Given the description of an element on the screen output the (x, y) to click on. 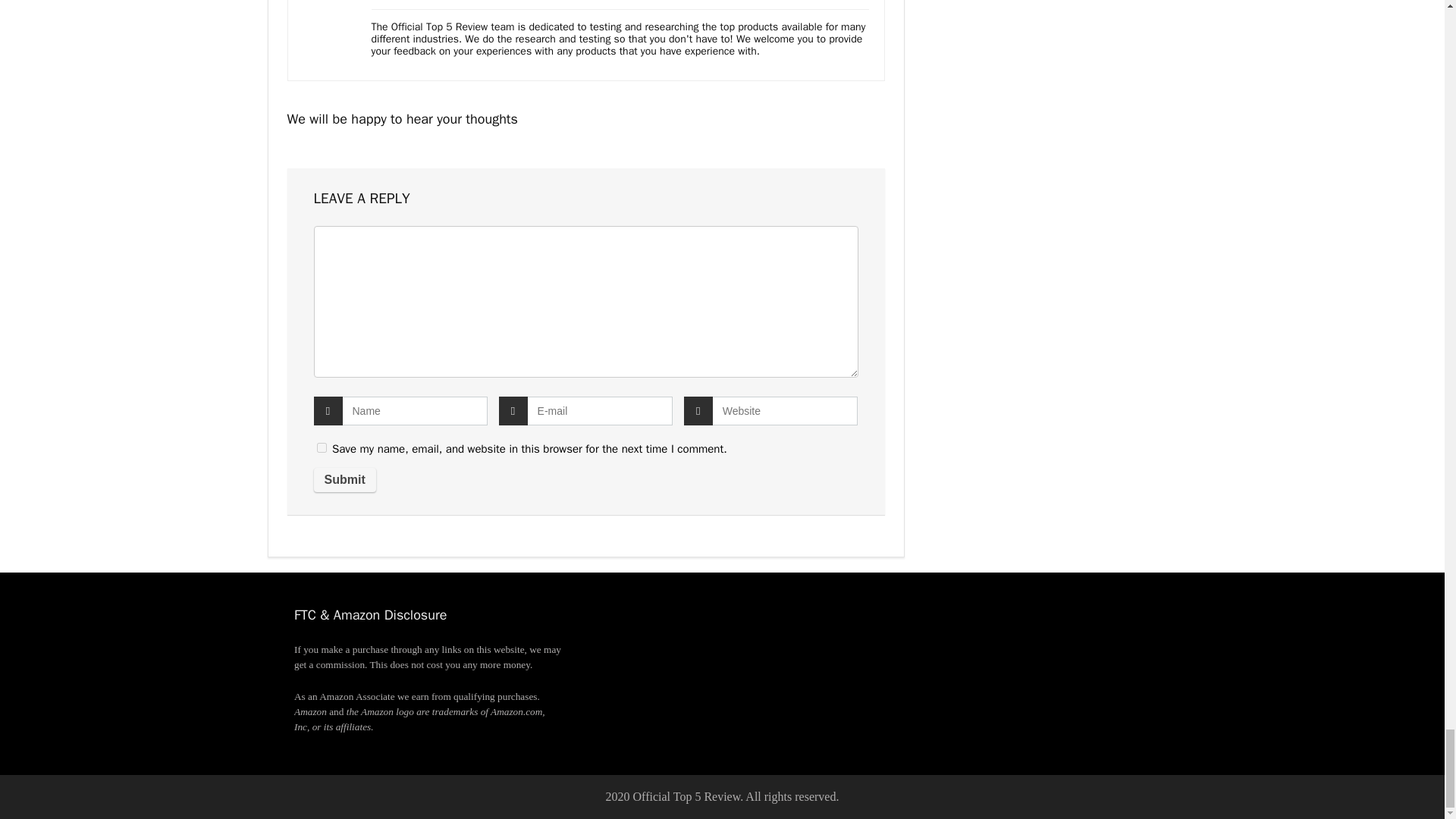
yes (321, 447)
Submit (344, 479)
